Given the description of an element on the screen output the (x, y) to click on. 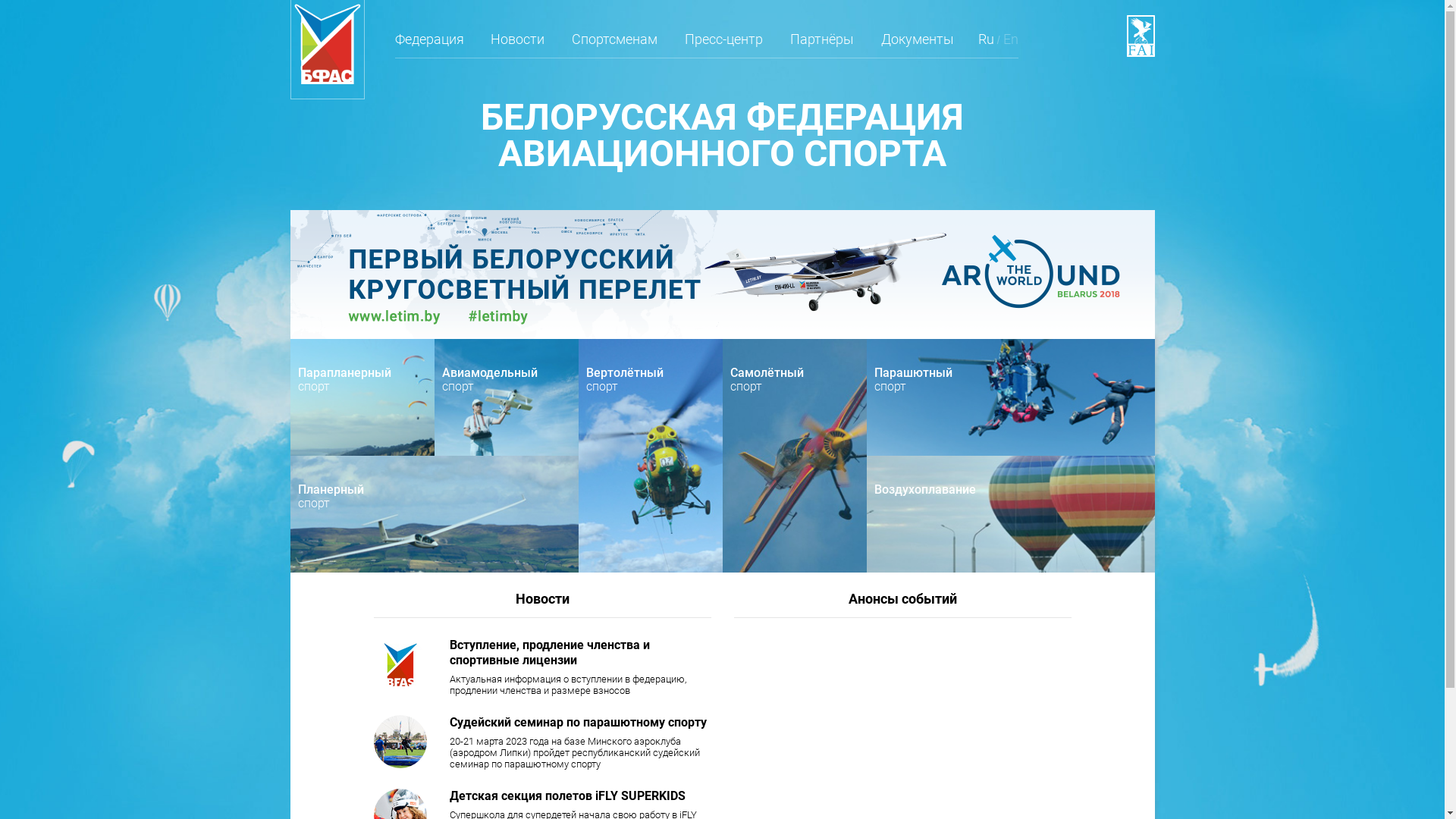
En Element type: text (1010, 44)
Ru Element type: text (986, 44)
